Given the description of an element on the screen output the (x, y) to click on. 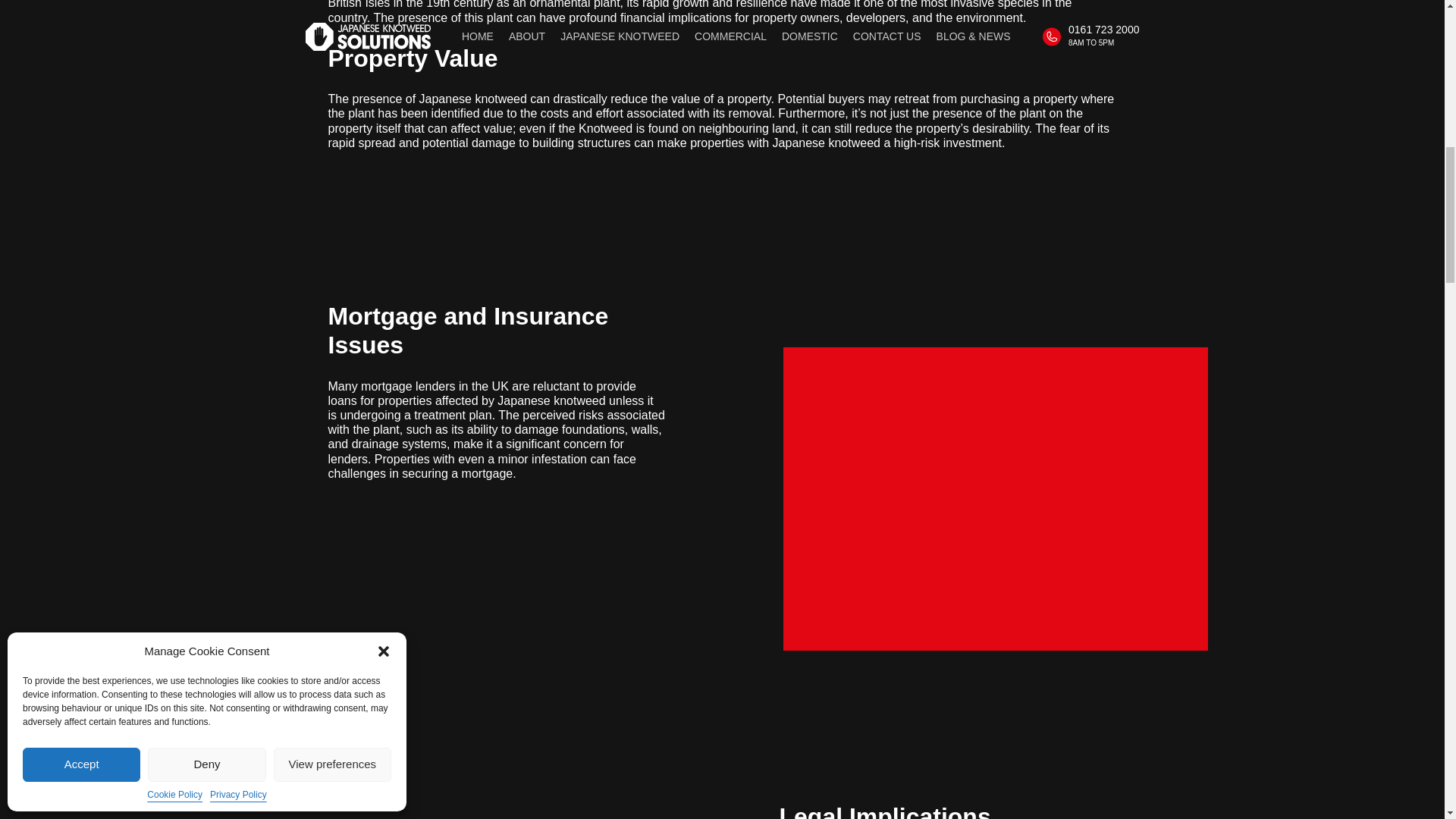
Financial Implications of Japanese Knotweed 3 (995, 498)
